Given the description of an element on the screen output the (x, y) to click on. 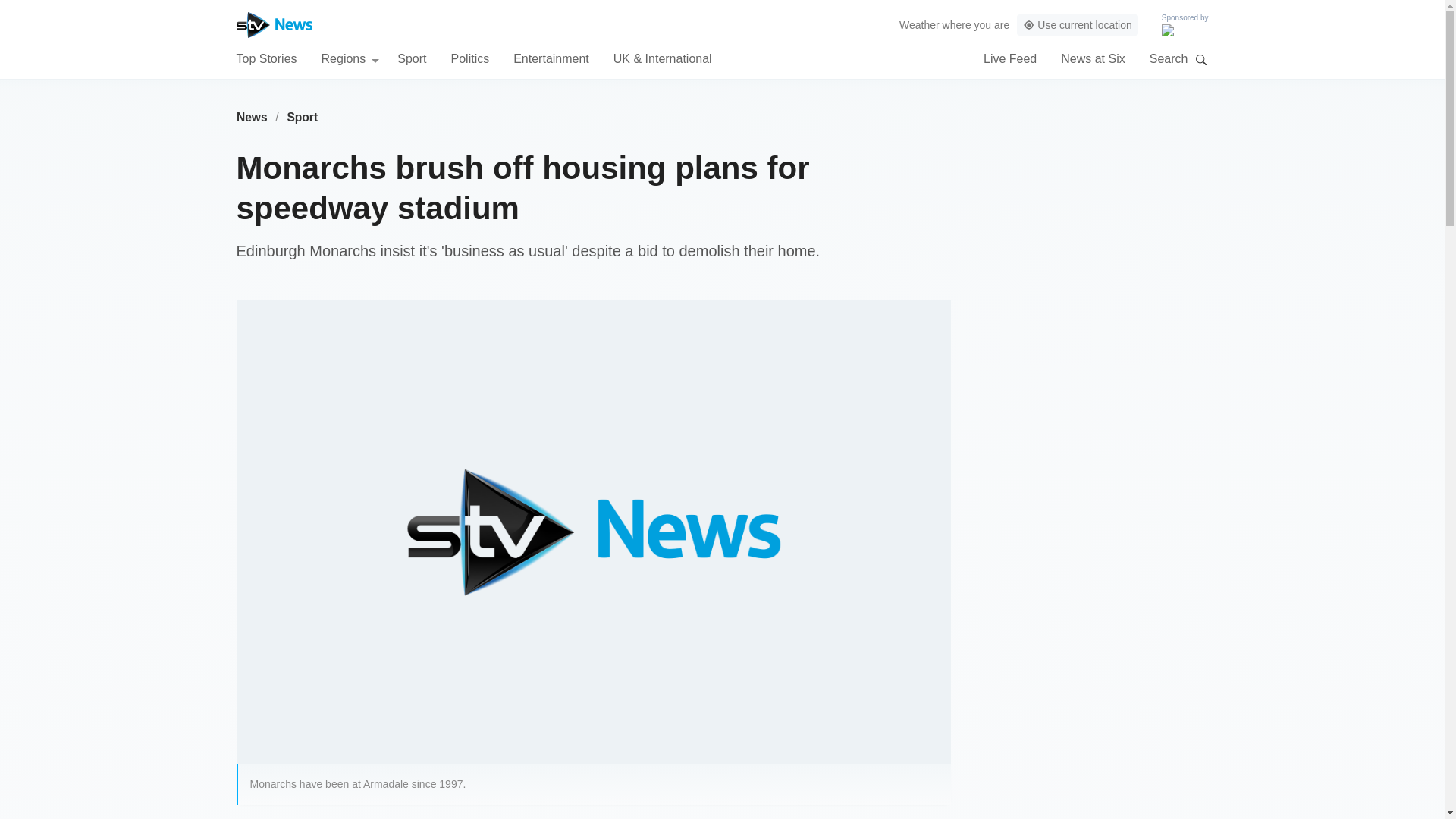
News at Six (1092, 57)
Use current location (1077, 25)
News (252, 116)
Politics (469, 57)
Weather (919, 24)
Top Stories (266, 57)
Search (1201, 59)
Live Feed (1010, 57)
Regions (350, 57)
Entertainment (551, 57)
